Given the description of an element on the screen output the (x, y) to click on. 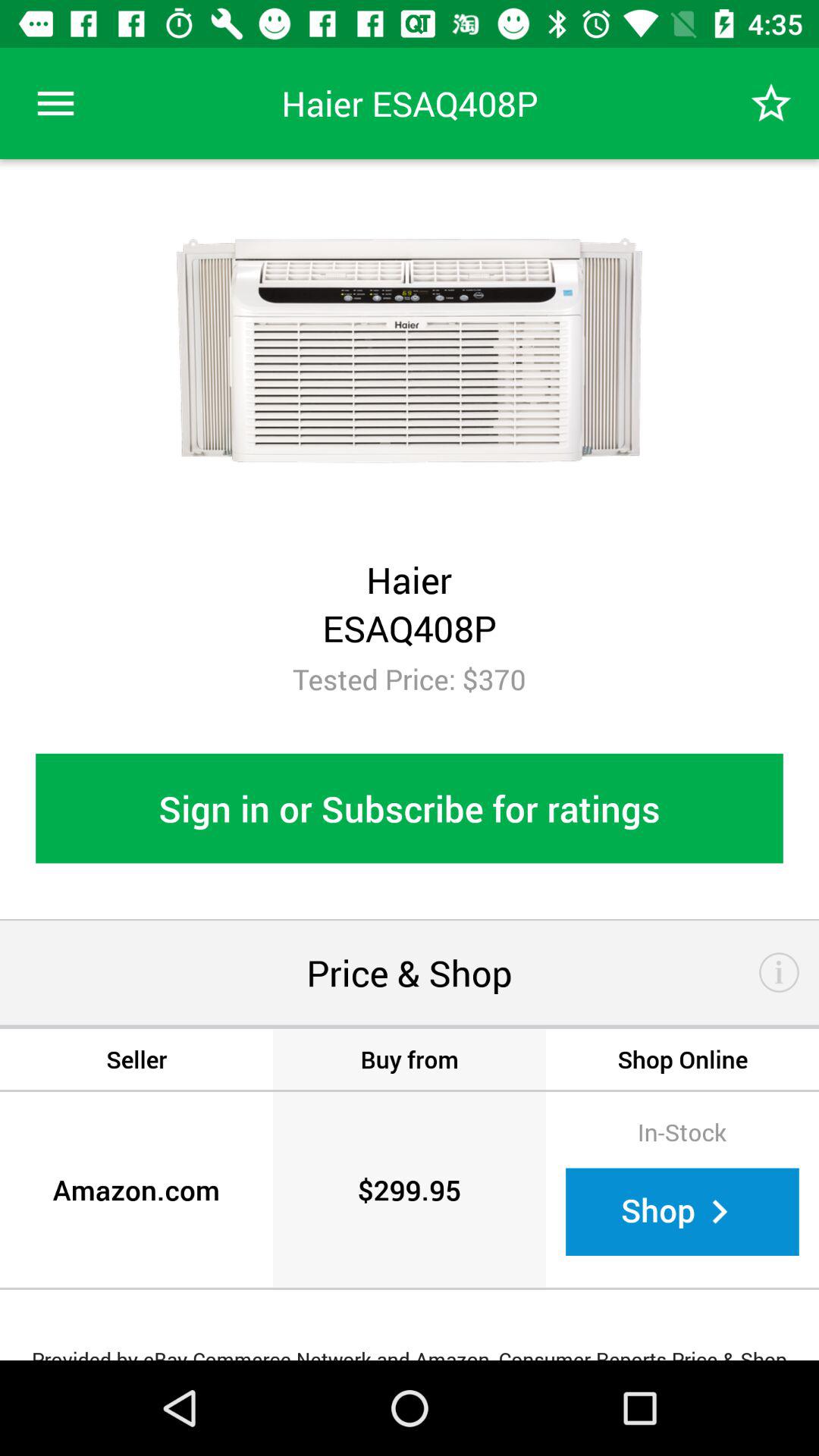
select the item above the tested price: $370 (55, 103)
